Given the description of an element on the screen output the (x, y) to click on. 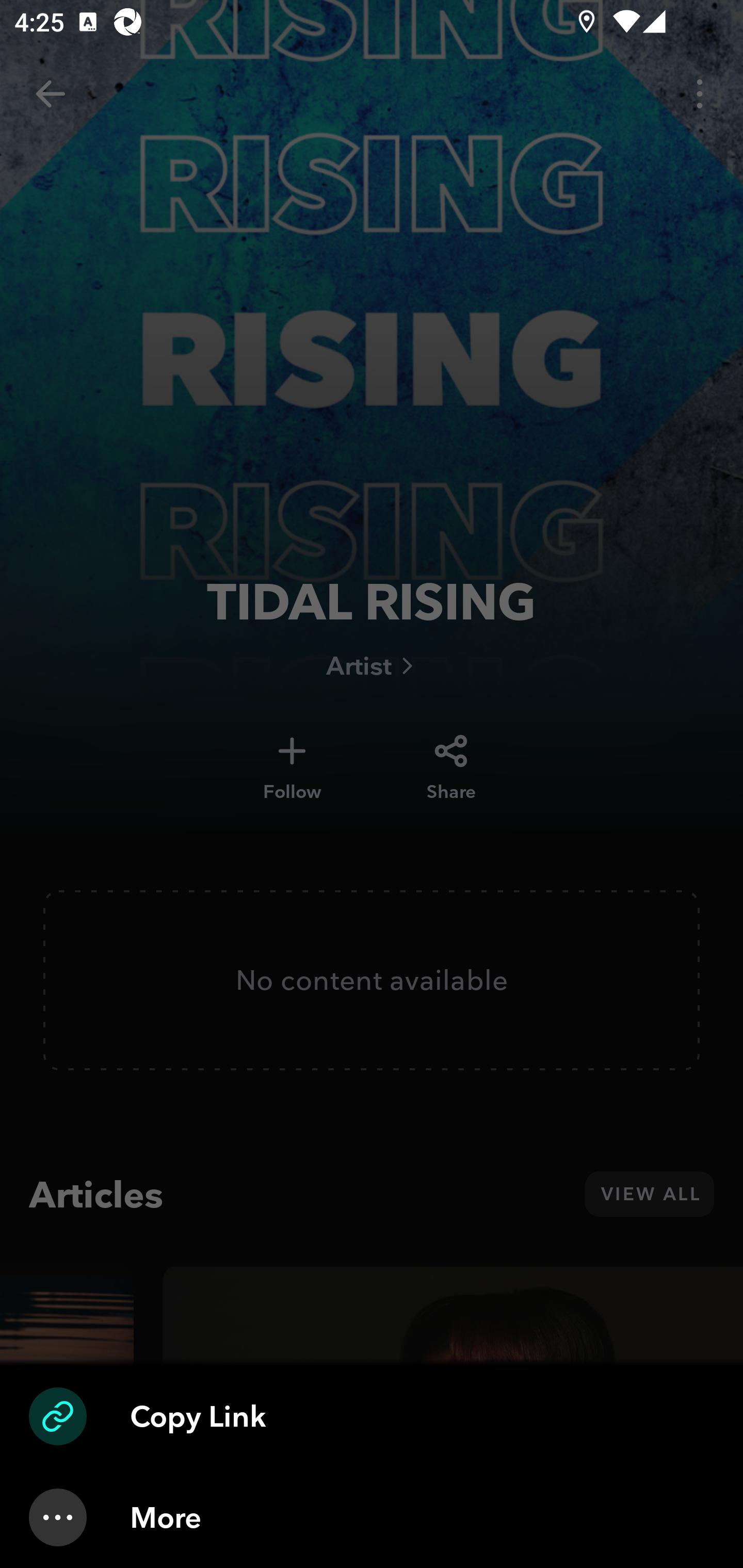
Copy Link (371, 1416)
More (371, 1517)
